Given the description of an element on the screen output the (x, y) to click on. 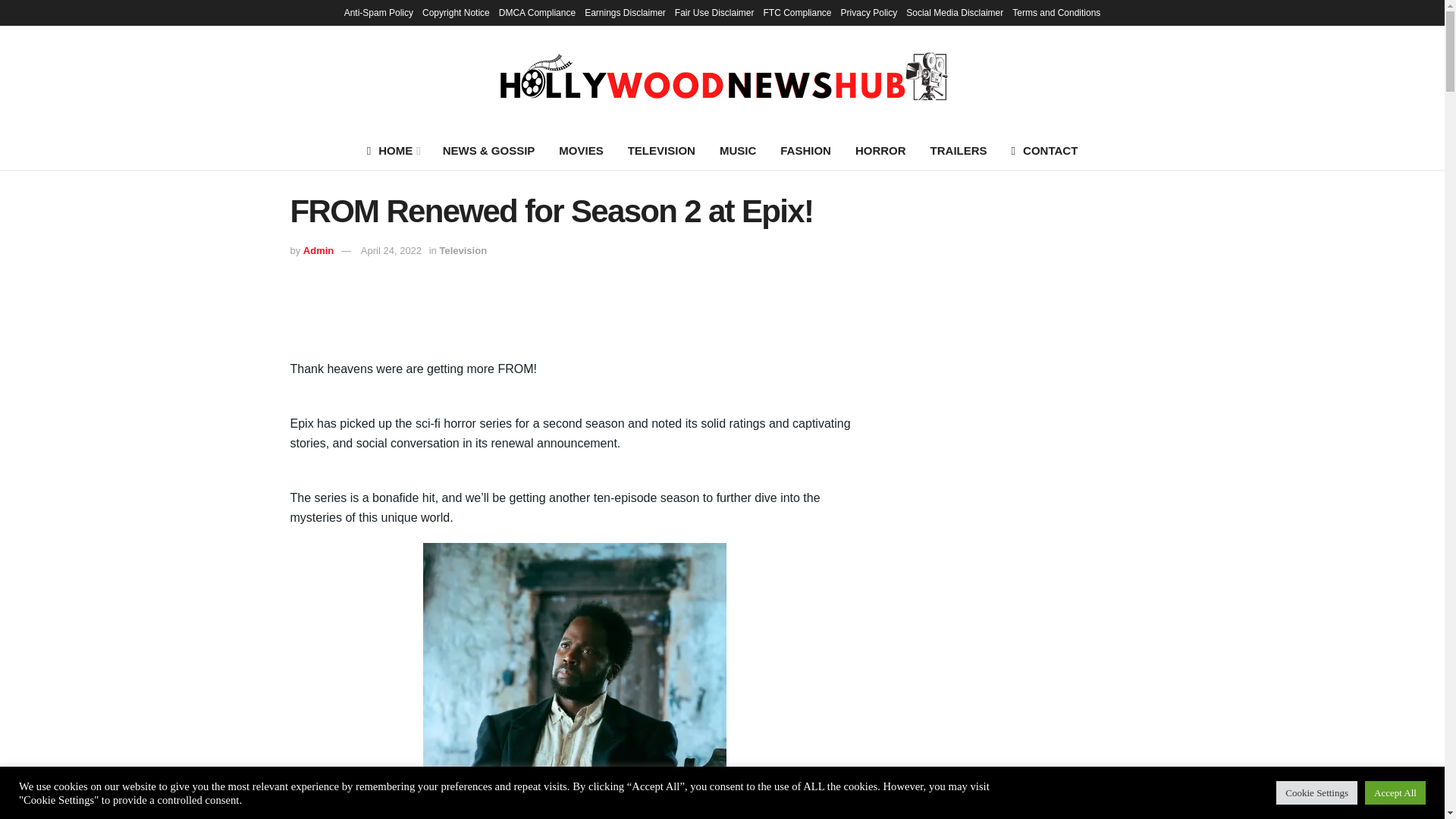
Earnings Disclaimer (625, 12)
Terms and Conditions (1055, 12)
Admin (317, 250)
Privacy Policy (869, 12)
MOVIES (580, 150)
HOME (392, 150)
FASHION (805, 150)
Fair Use Disclaimer (714, 12)
Anti-Spam Policy (378, 12)
Social Media Disclaimer (954, 12)
CONTACT (1044, 150)
Copyright Notice (455, 12)
Television (462, 250)
TELEVISION (661, 150)
April 24, 2022 (391, 250)
